Given the description of an element on the screen output the (x, y) to click on. 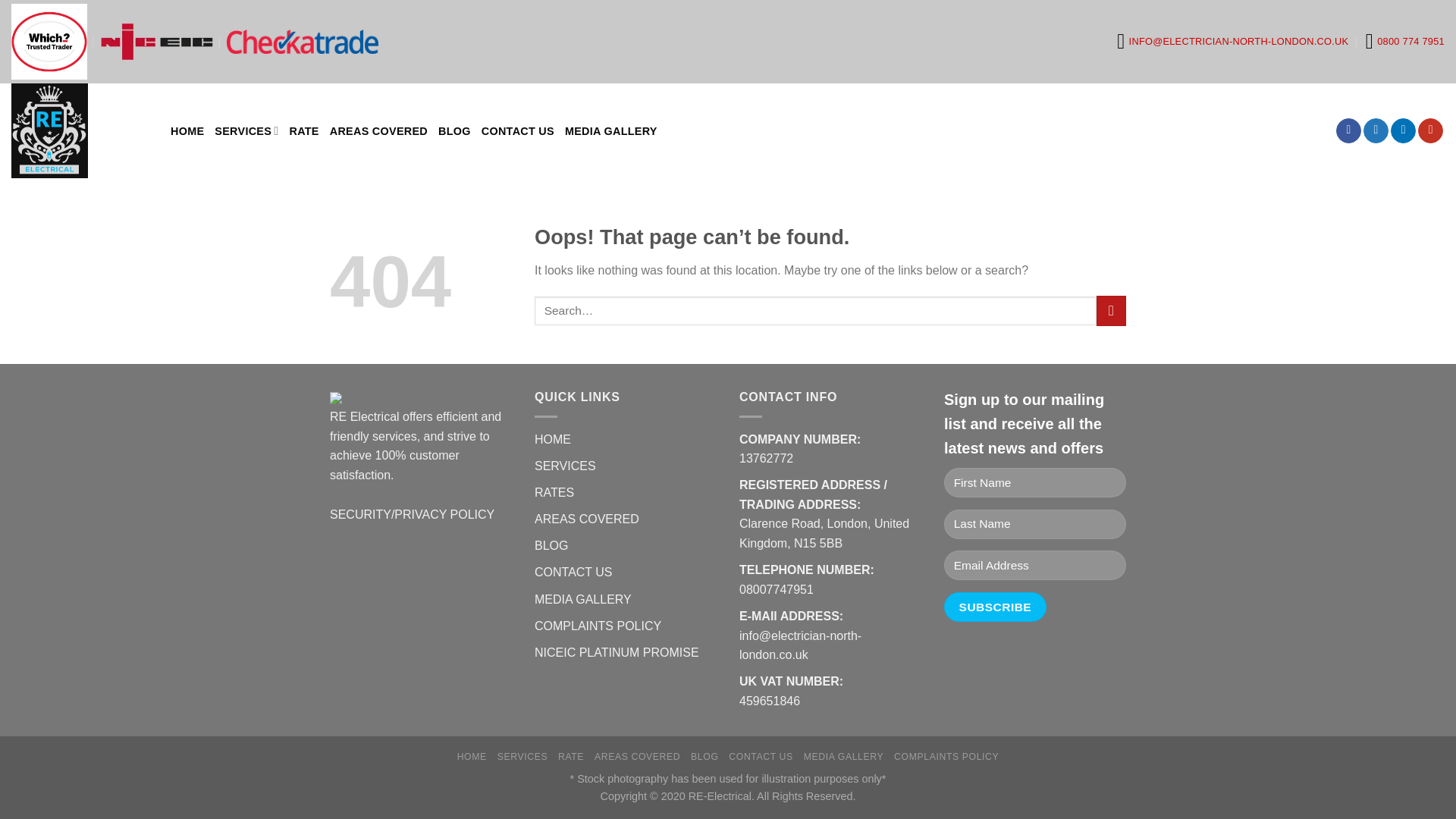
Subscribe (994, 606)
RATES (553, 492)
Follow on Facebook (1348, 130)
MEDIA GALLERY (611, 130)
BLOG (550, 545)
Follow on Twitter (1375, 130)
Email (1232, 41)
HOME (552, 439)
MEDIA GALLERY (582, 599)
0800 774 7951 (1404, 41)
